Given the description of an element on the screen output the (x, y) to click on. 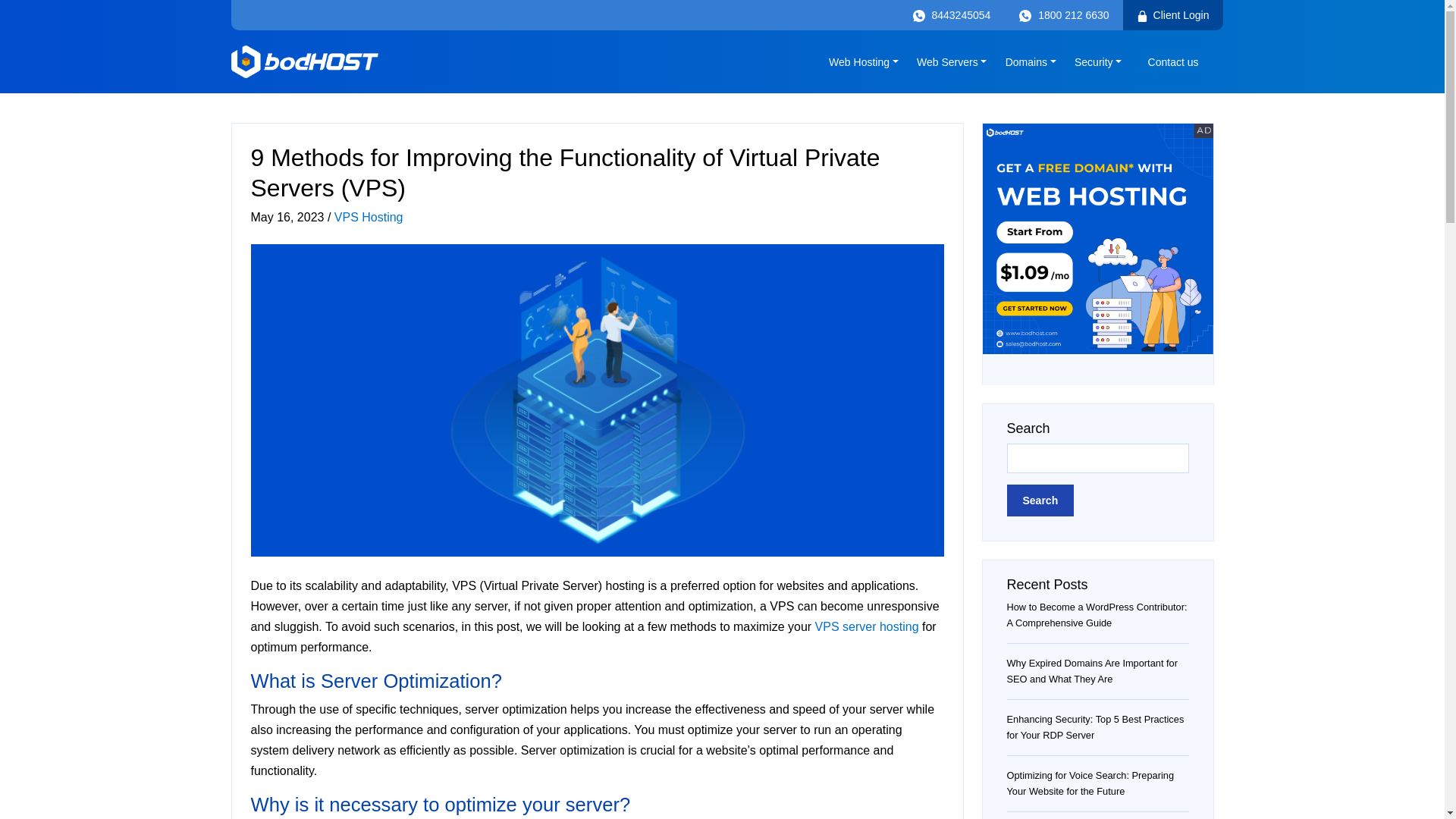
8443245054 (951, 15)
VPS Hosting (368, 216)
Enhancing Security: Top 5 Best Practices for Your RDP Server (1096, 726)
Why Expired Domains Are Important for SEO and What They Are (1092, 670)
Client Login (1172, 15)
Domains (1030, 61)
Web Servers (951, 61)
Security (1098, 61)
Web Hosting (863, 61)
How to Become a WordPress Contributor: A Comprehensive Guide (1097, 614)
1800 212 6630 (1063, 15)
VPS server hosting (866, 626)
Search (1040, 500)
Contact us (1173, 61)
VPS server hosting (866, 626)
